Given the description of an element on the screen output the (x, y) to click on. 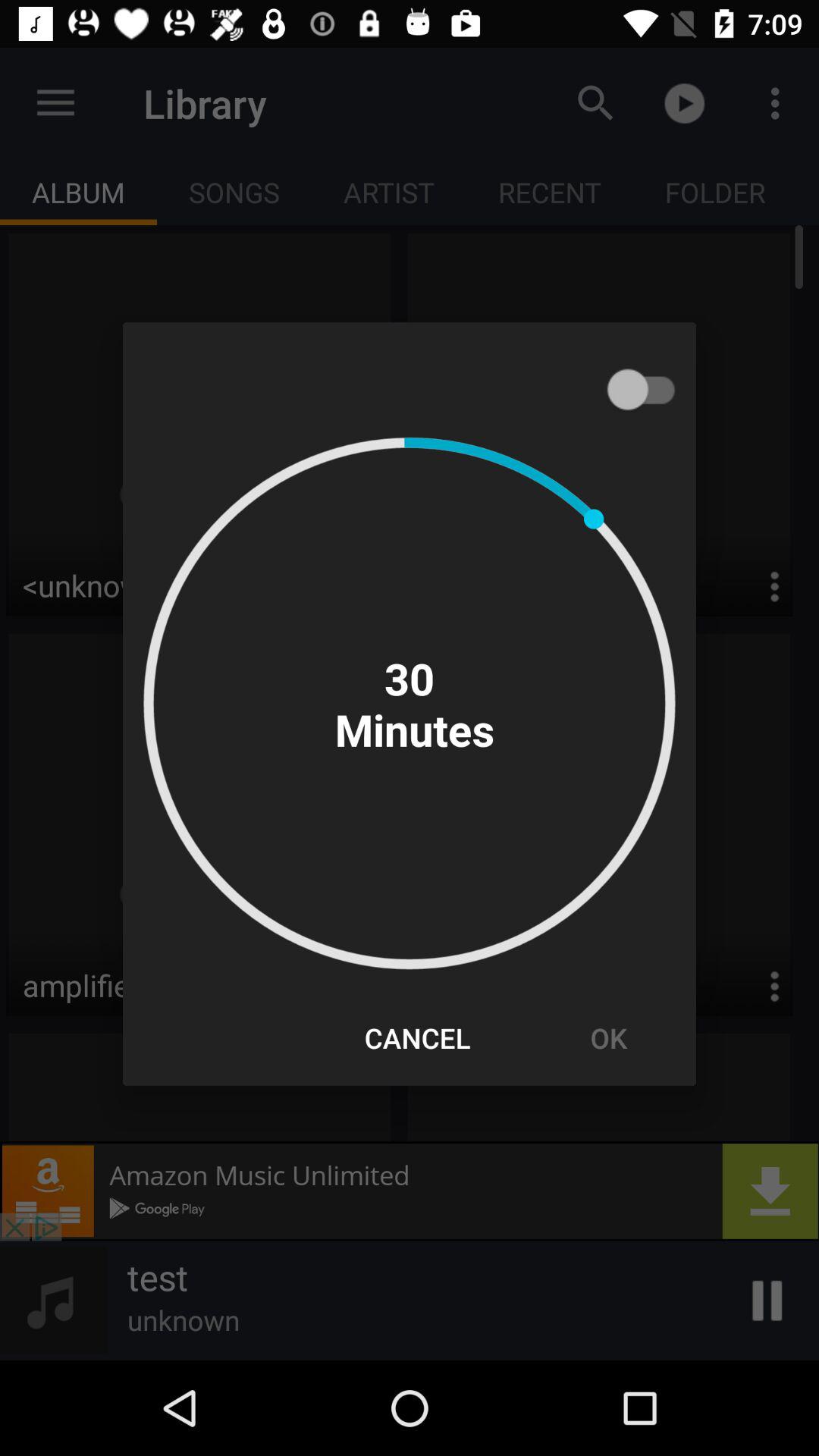
select the cancel at the bottom (417, 1037)
